Given the description of an element on the screen output the (x, y) to click on. 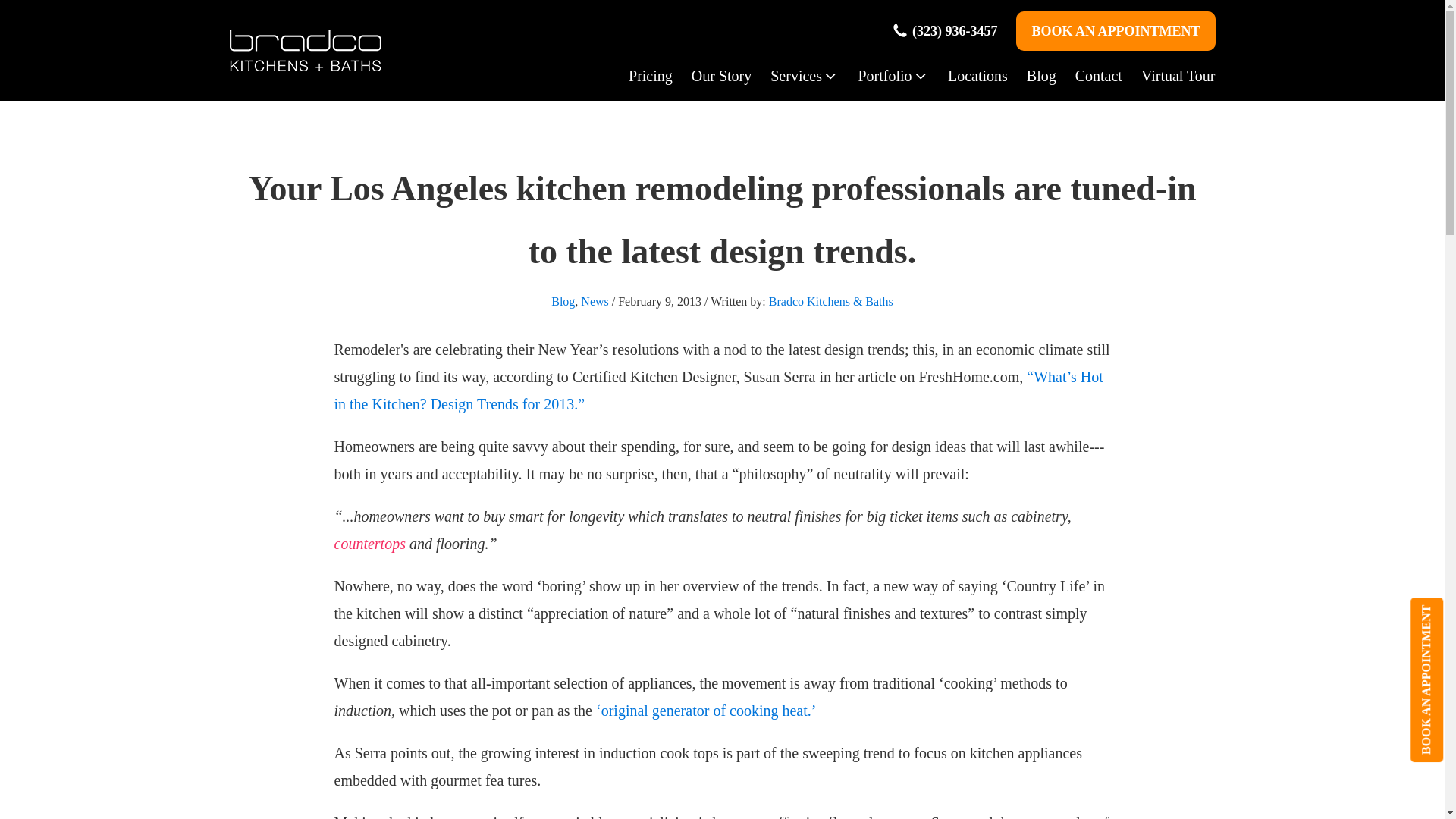
Locations (967, 75)
Virtual Tour (1168, 75)
Blog (1032, 75)
Contact (1089, 75)
Services (794, 75)
Pricing (641, 75)
Blog (563, 300)
countertops (368, 543)
BOOK AN APPOINTMENT (1115, 30)
News (594, 300)
